Given the description of an element on the screen output the (x, y) to click on. 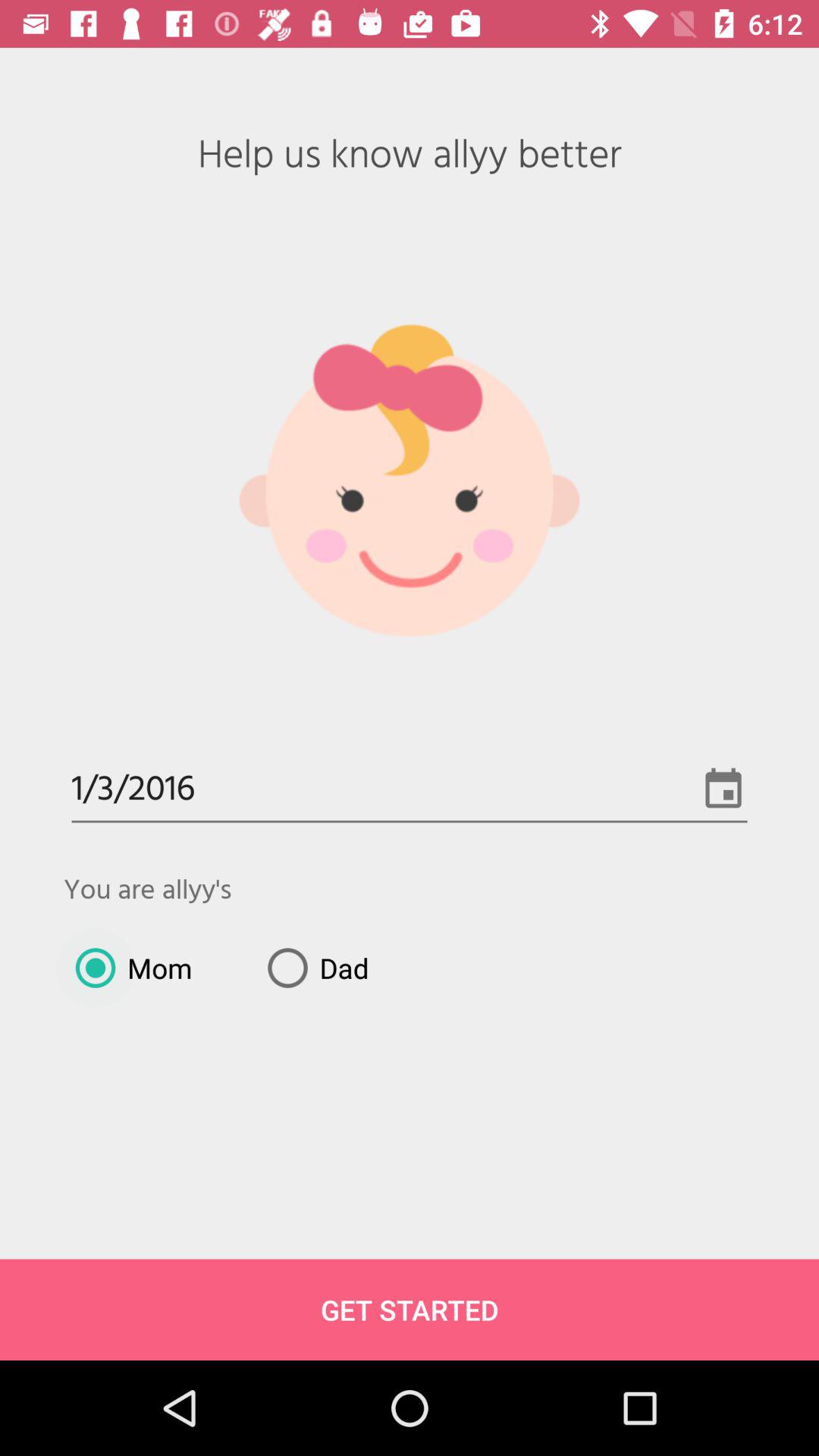
select mom item (127, 967)
